Given the description of an element on the screen output the (x, y) to click on. 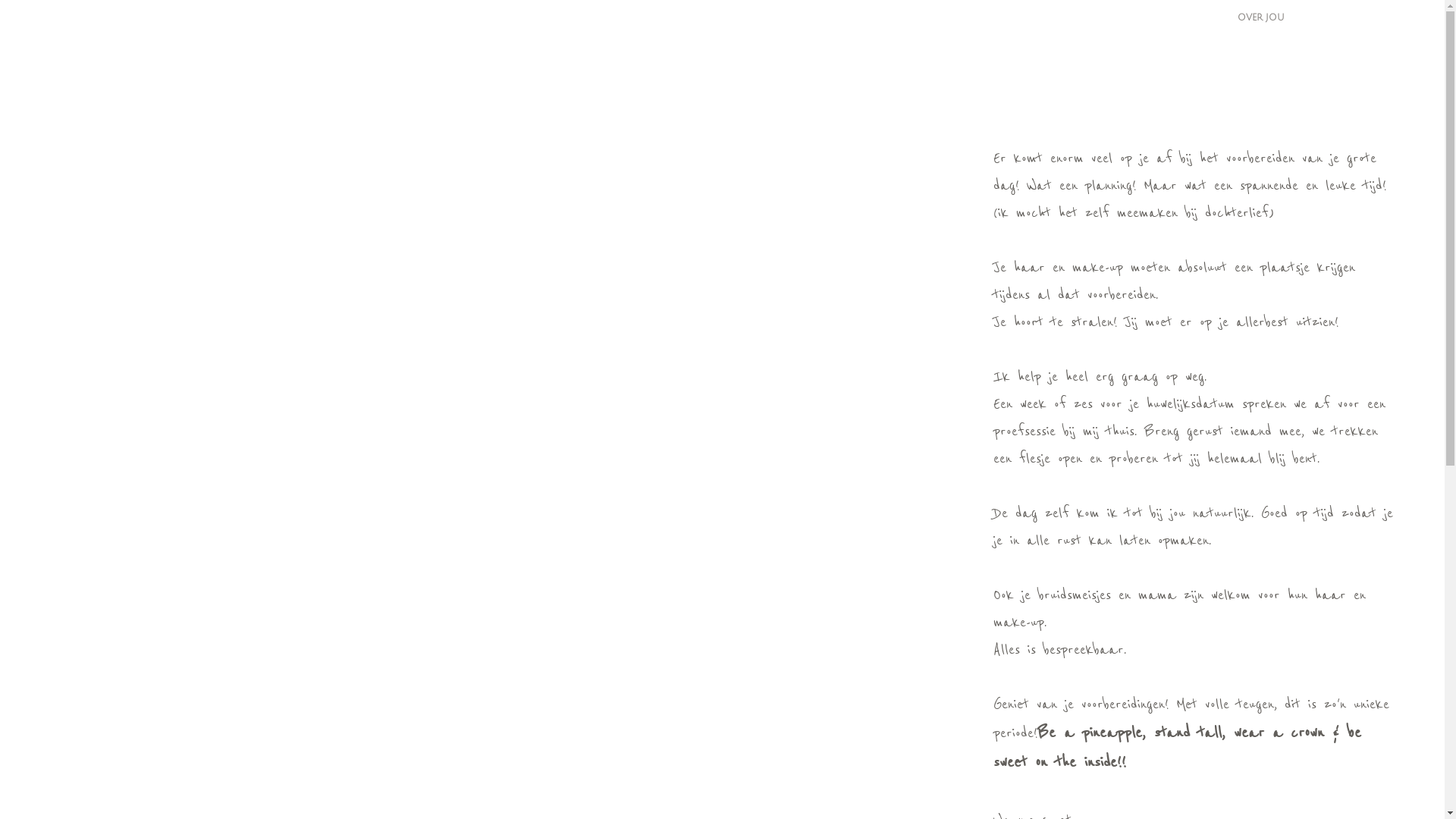
OVER MIJ Element type: text (1090, 18)
GALERIJ Element type: text (1174, 18)
OVER JOU Element type: text (1260, 18)
HOME Element type: text (1009, 18)
CONTACT Element type: text (1375, 54)
STELLA BLOOM. Element type: text (1364, 18)
